Given the description of an element on the screen output the (x, y) to click on. 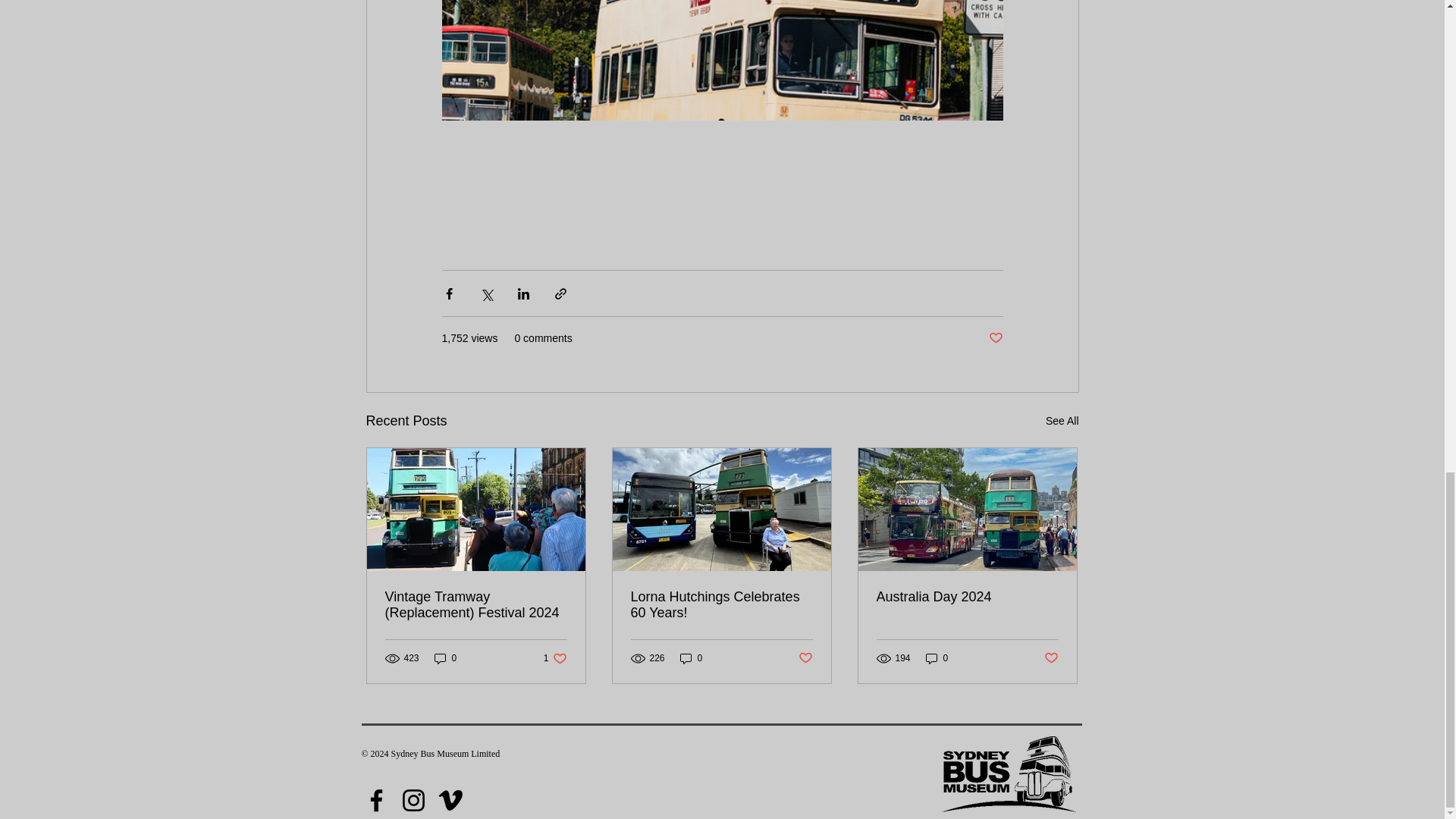
Post not marked as liked (995, 338)
Post not marked as liked (804, 658)
0 (691, 657)
0 (937, 657)
Australia Day 2024 (967, 596)
See All (555, 657)
0 (1061, 421)
Lorna Hutchings Celebrates 60 Years! (445, 657)
Post not marked as liked (721, 604)
